Given the description of an element on the screen output the (x, y) to click on. 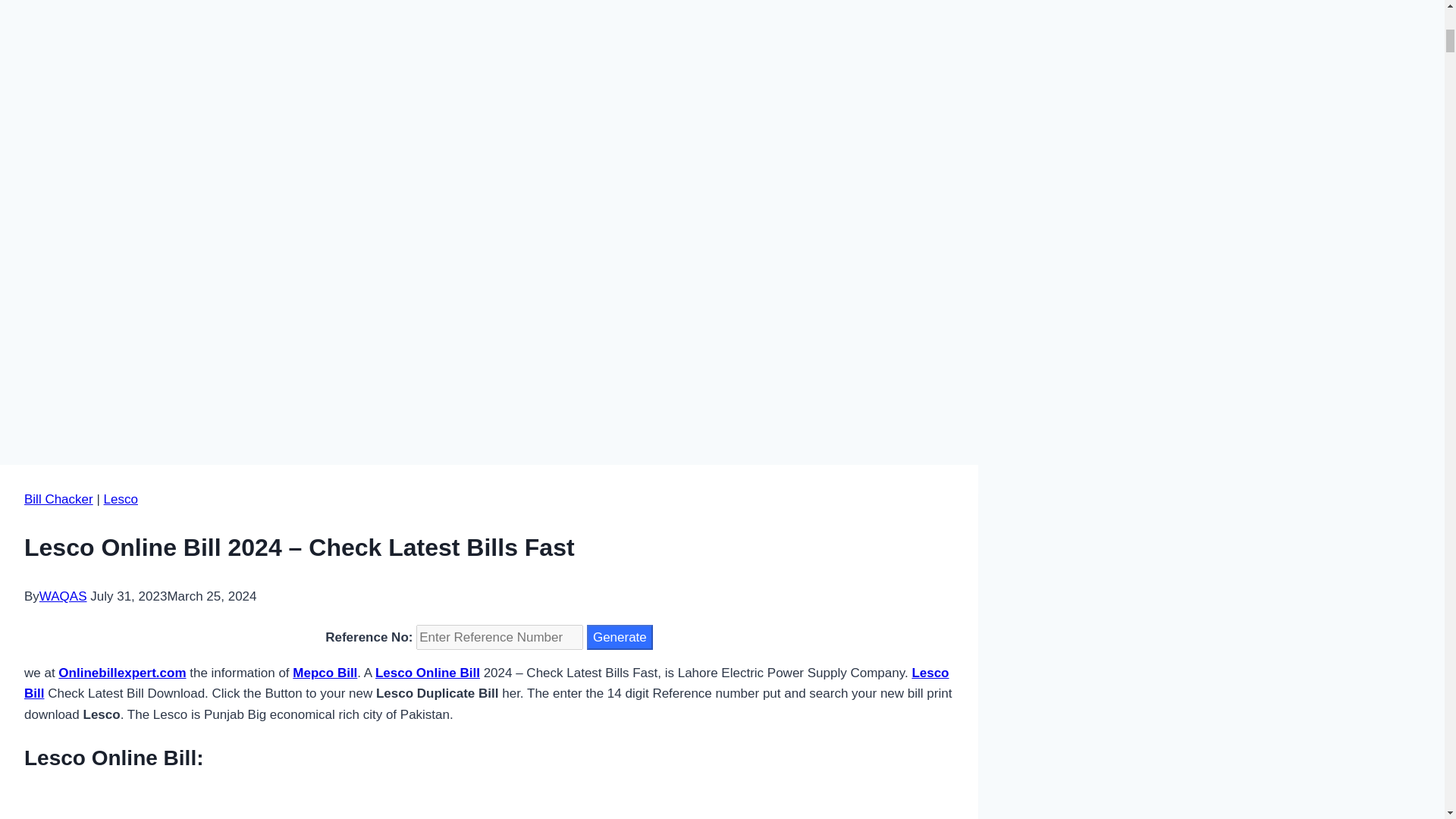
Onlinebillexpert.com (122, 672)
Mepco Bill (324, 672)
WAQAS (63, 595)
Lesco Online Bill (427, 672)
Generate (619, 637)
Bill Chacker (58, 499)
Generate (619, 637)
Lesco (120, 499)
Lesco Bill (486, 683)
